Given the description of an element on the screen output the (x, y) to click on. 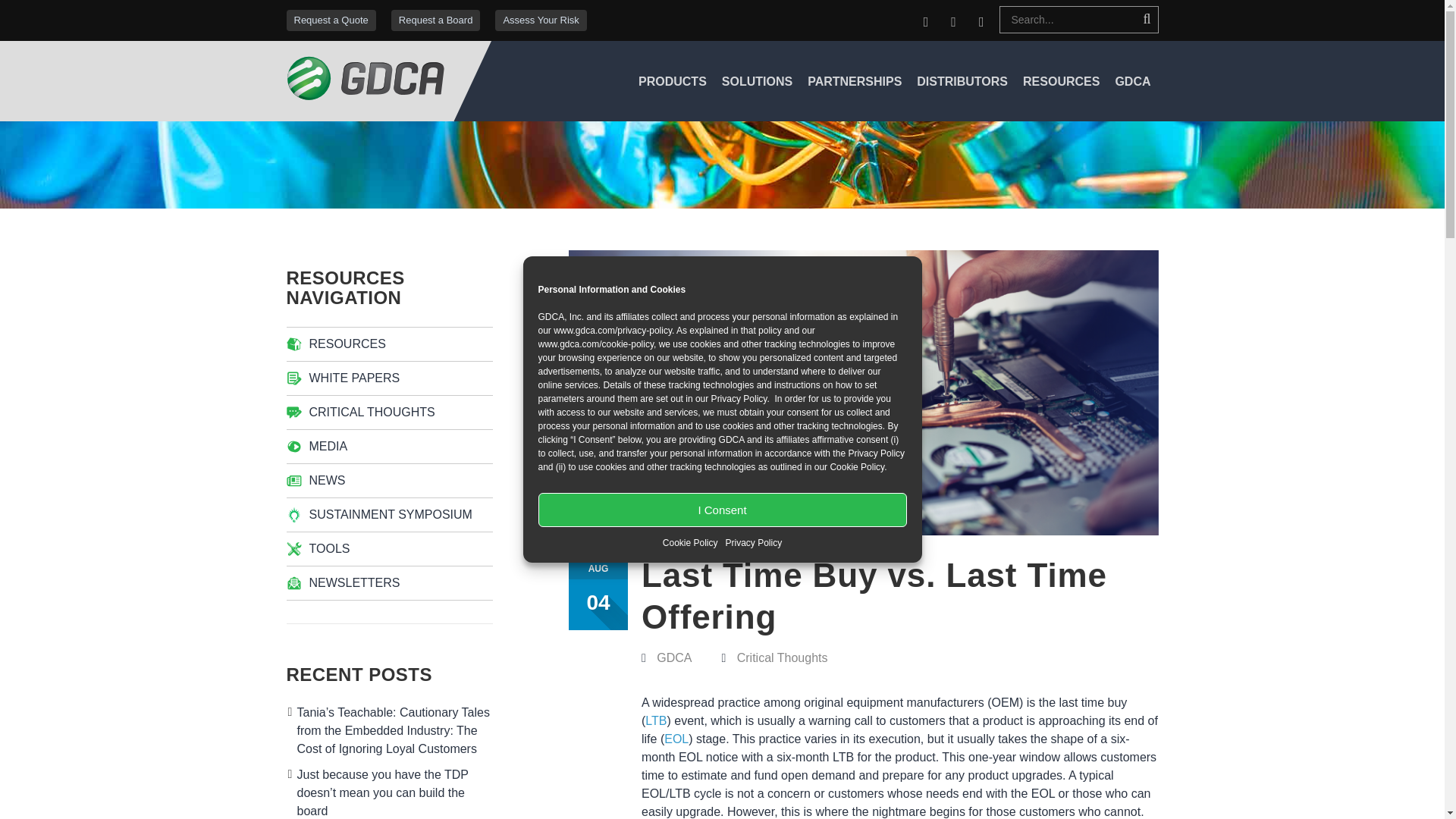
Privacy Policy (753, 542)
PARTNERSHIPS (854, 81)
Request a Quote (330, 20)
PRODUCTS (672, 81)
Assess Your Risk (540, 20)
I Consent (722, 510)
Request a Board (435, 20)
Last Time Buy vs. Last Time Offering (863, 391)
DISTRIBUTORS (962, 81)
Request a Quote (330, 20)
RESOURCES (1061, 81)
SOLUTIONS (757, 81)
Cookie Policy (689, 542)
